Given the description of an element on the screen output the (x, y) to click on. 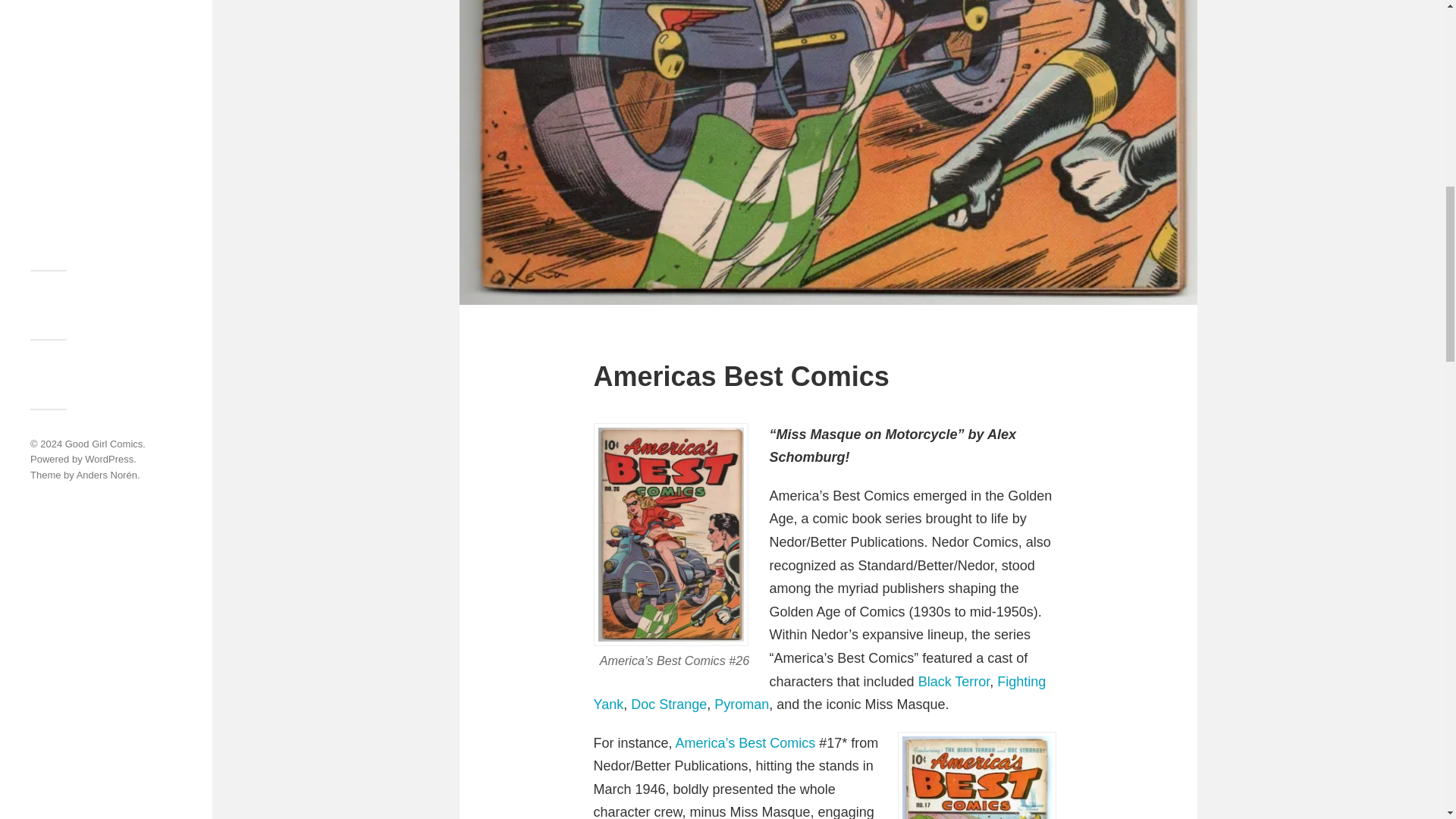
Click to read (977, 775)
Fighting Yank (818, 693)
America's Best Comics (745, 743)
Black Terror (954, 681)
Doc Strange (668, 703)
Doc Strange (668, 703)
WordPress (108, 459)
Pyroman (741, 703)
Pyroman (741, 703)
Good Girl Comics (103, 443)
